Given the description of an element on the screen output the (x, y) to click on. 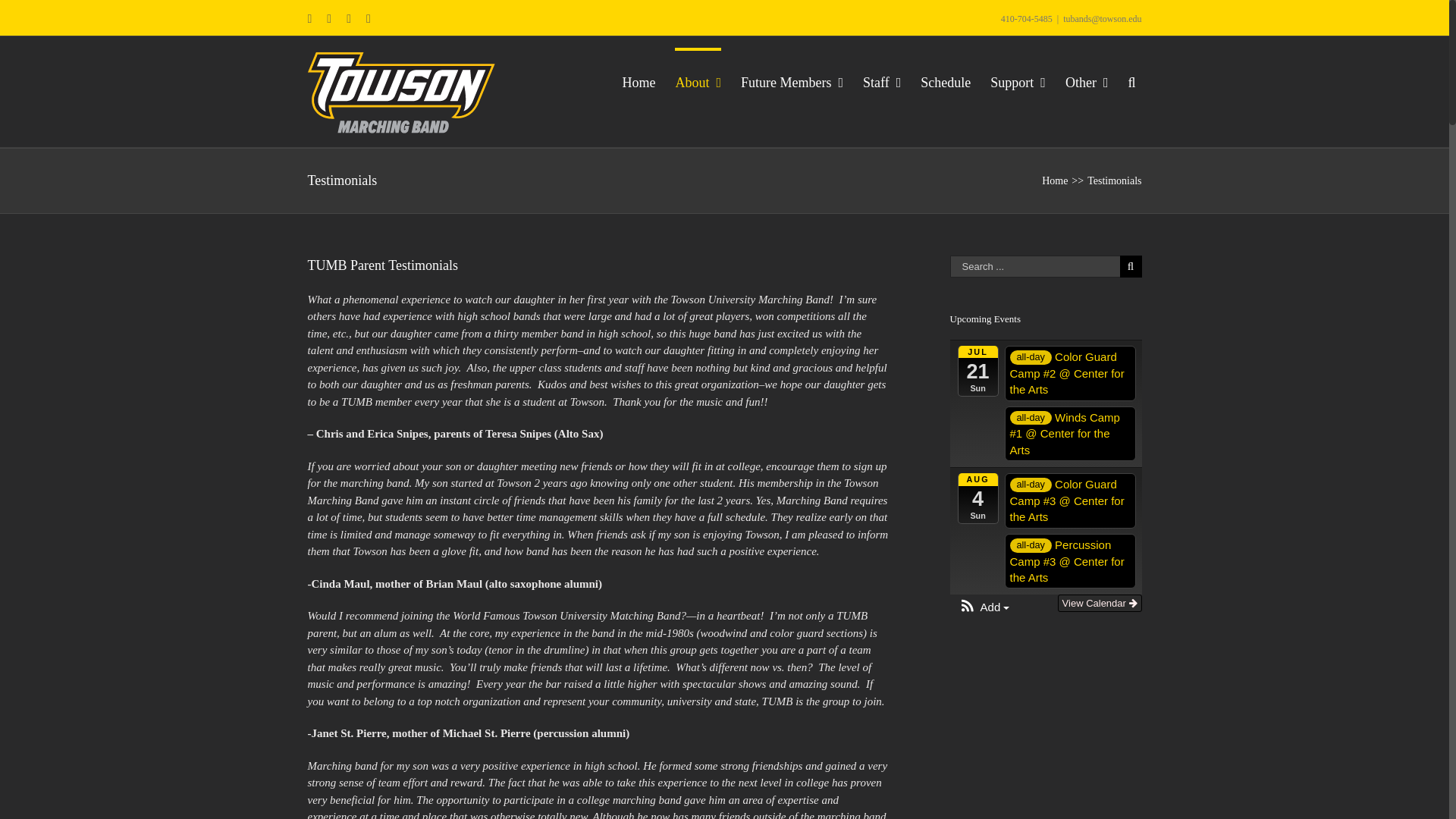
Facebook (328, 19)
Support (1017, 80)
Instagram (348, 19)
Other (1086, 80)
Schedule (945, 80)
Search (1134, 80)
Future Members (792, 80)
Home (638, 80)
Email (310, 19)
Rss (368, 19)
About (697, 80)
Staff (882, 80)
